Given the description of an element on the screen output the (x, y) to click on. 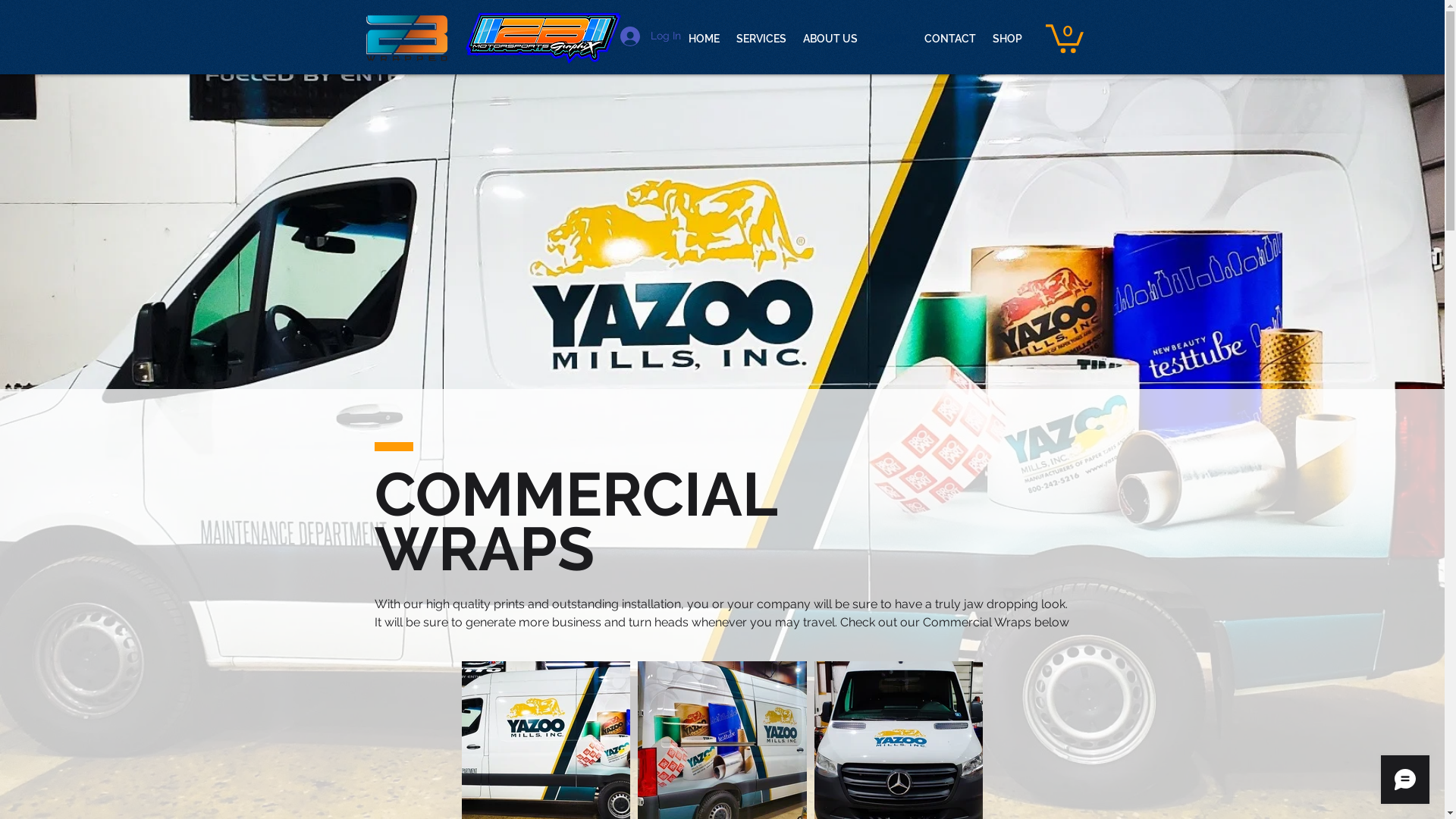
0 Element type: text (1063, 37)
Log In Element type: text (650, 35)
HOME Element type: text (703, 38)
ABOUT US Element type: text (830, 38)
SHOP Element type: text (1007, 38)
SERVICES Element type: text (761, 38)
WORK Element type: text (891, 38)
CONTACT Element type: text (950, 38)
